Given the description of an element on the screen output the (x, y) to click on. 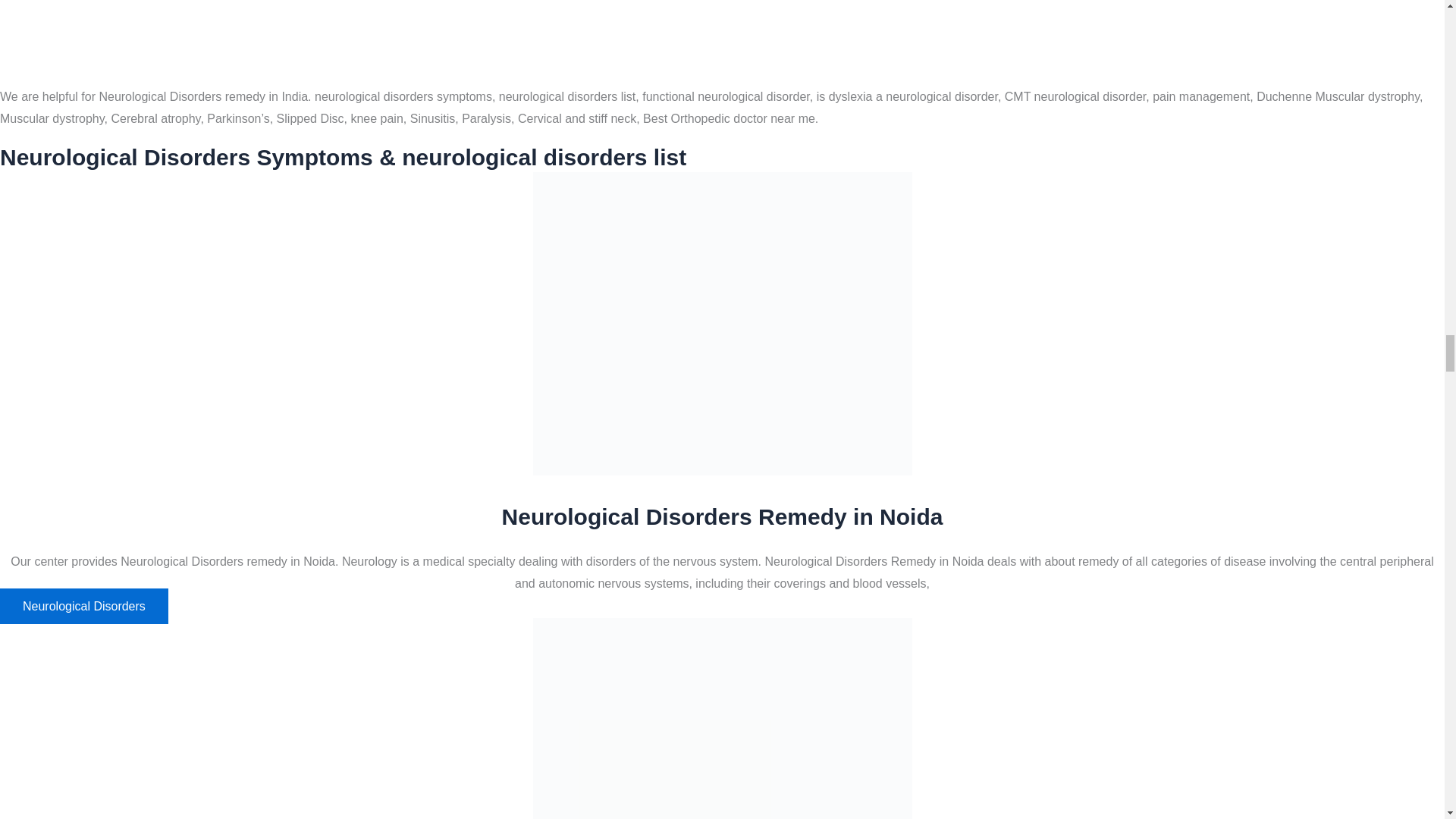
Neurological Disorders (84, 606)
